Given the description of an element on the screen output the (x, y) to click on. 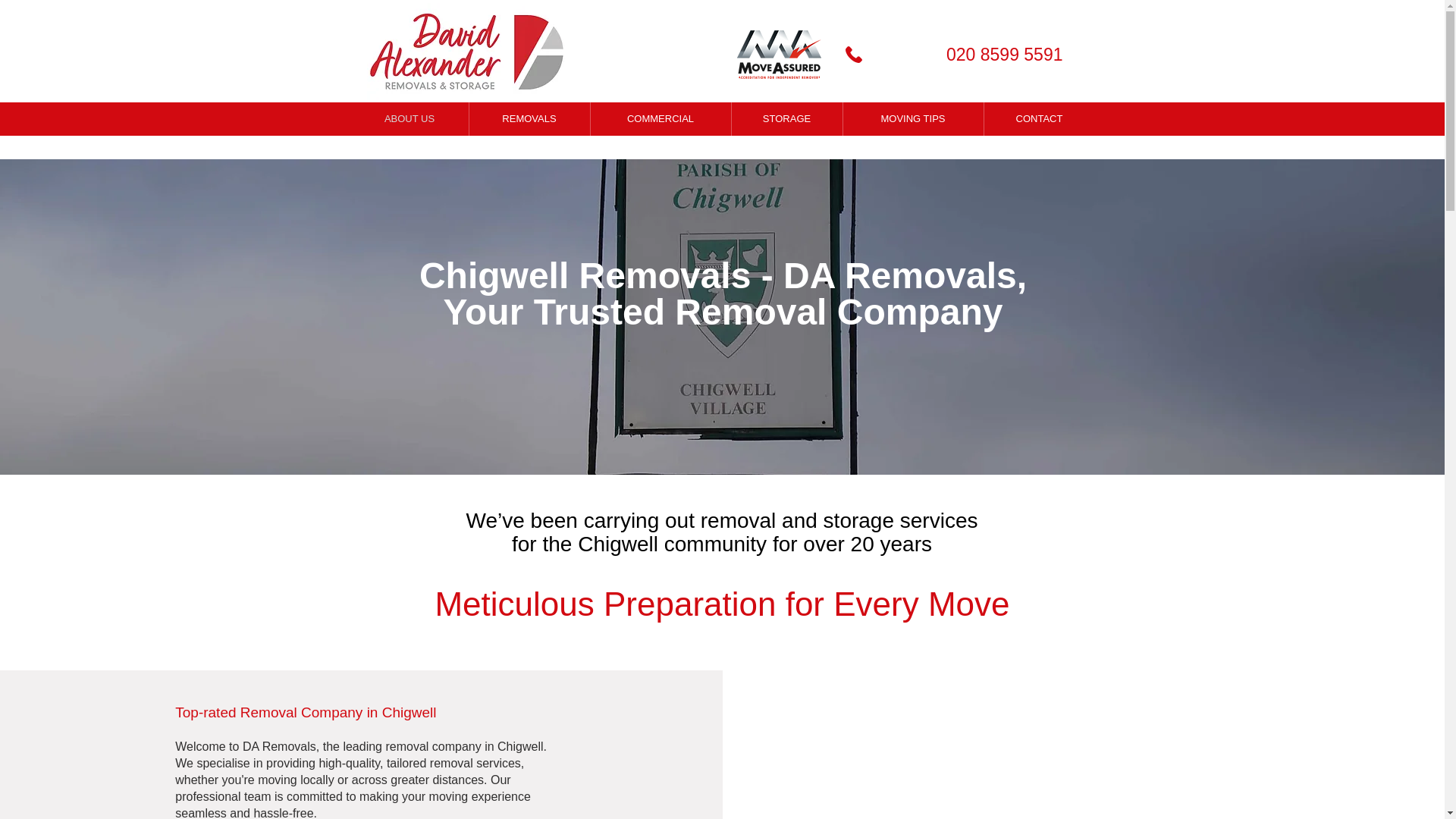
ABOUT US (408, 118)
CONTACT (1038, 118)
MOVING TIPS (911, 118)
STORAGE (786, 118)
020 8599 5591 (956, 54)
COMMERCIAL (659, 118)
REMOVALS (528, 118)
